Given the description of an element on the screen output the (x, y) to click on. 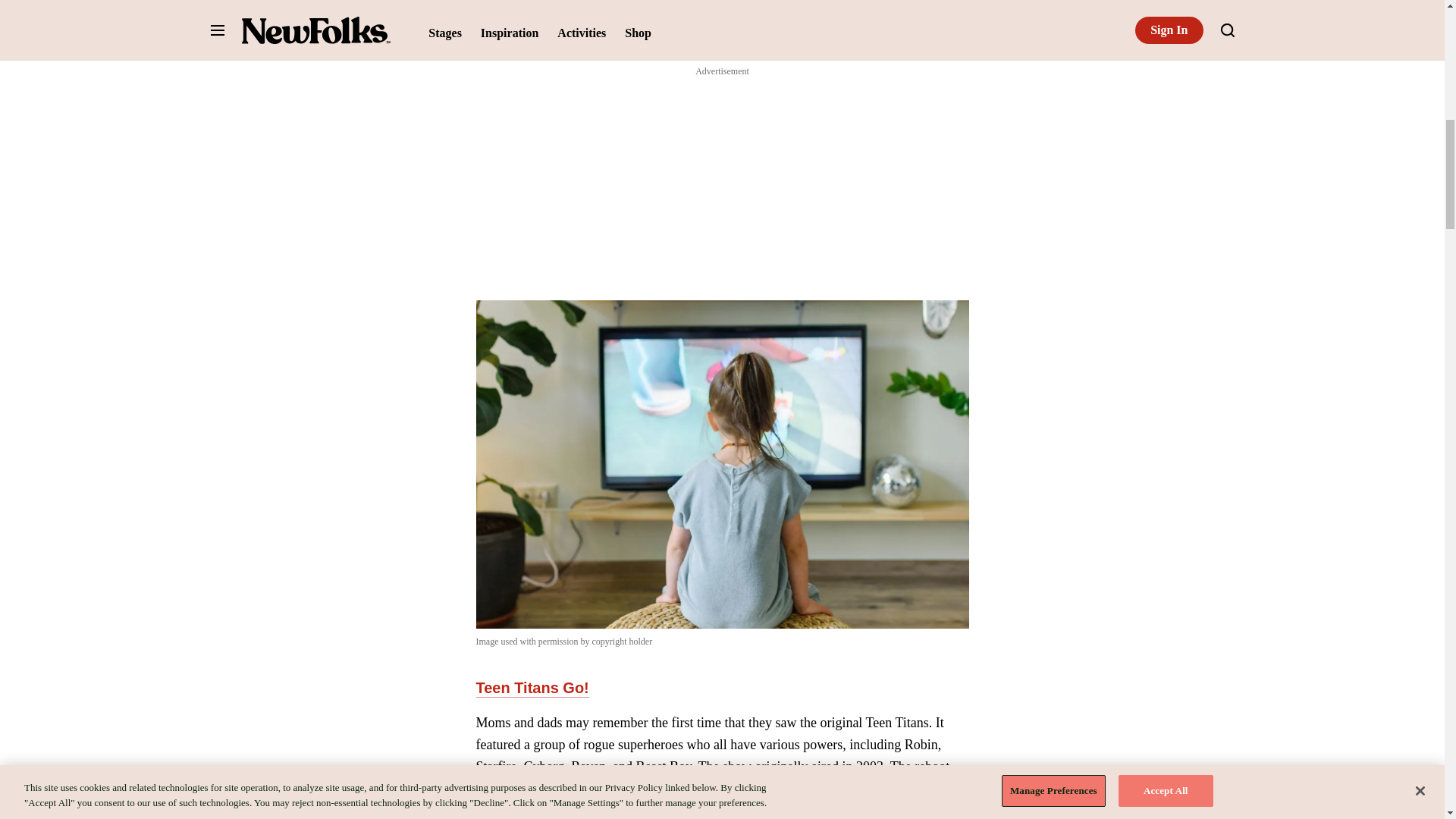
3rd party ad content (721, 175)
